Given the description of an element on the screen output the (x, y) to click on. 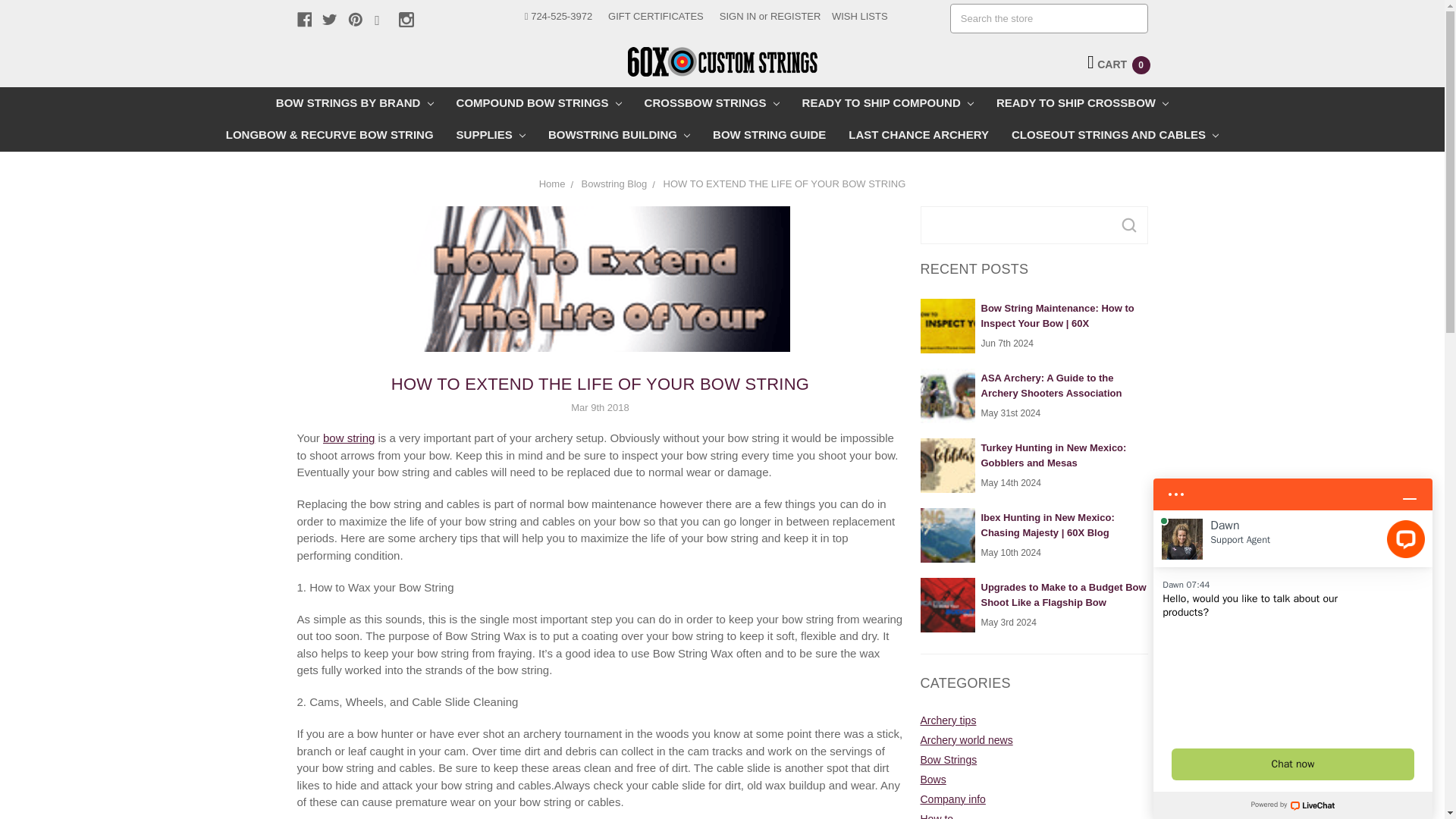
60X Custom Strings (721, 61)
CART 0 (1118, 63)
REGISTER (795, 16)
ASA Archery: A Guide to the Archery Shooters Association (947, 395)
Turkey Hunting in New Mexico: Gobblers and Mesas (947, 465)
SIGN IN (736, 16)
Upgrades to Make to a Budget Bow Shoot Like a Flagship Bow (947, 605)
WISH LISTS (859, 16)
724-525-3972 (557, 16)
GIFT CERTIFICATES (655, 16)
BOW STRINGS BY BRAND (354, 102)
Search (1128, 225)
